Given the description of an element on the screen output the (x, y) to click on. 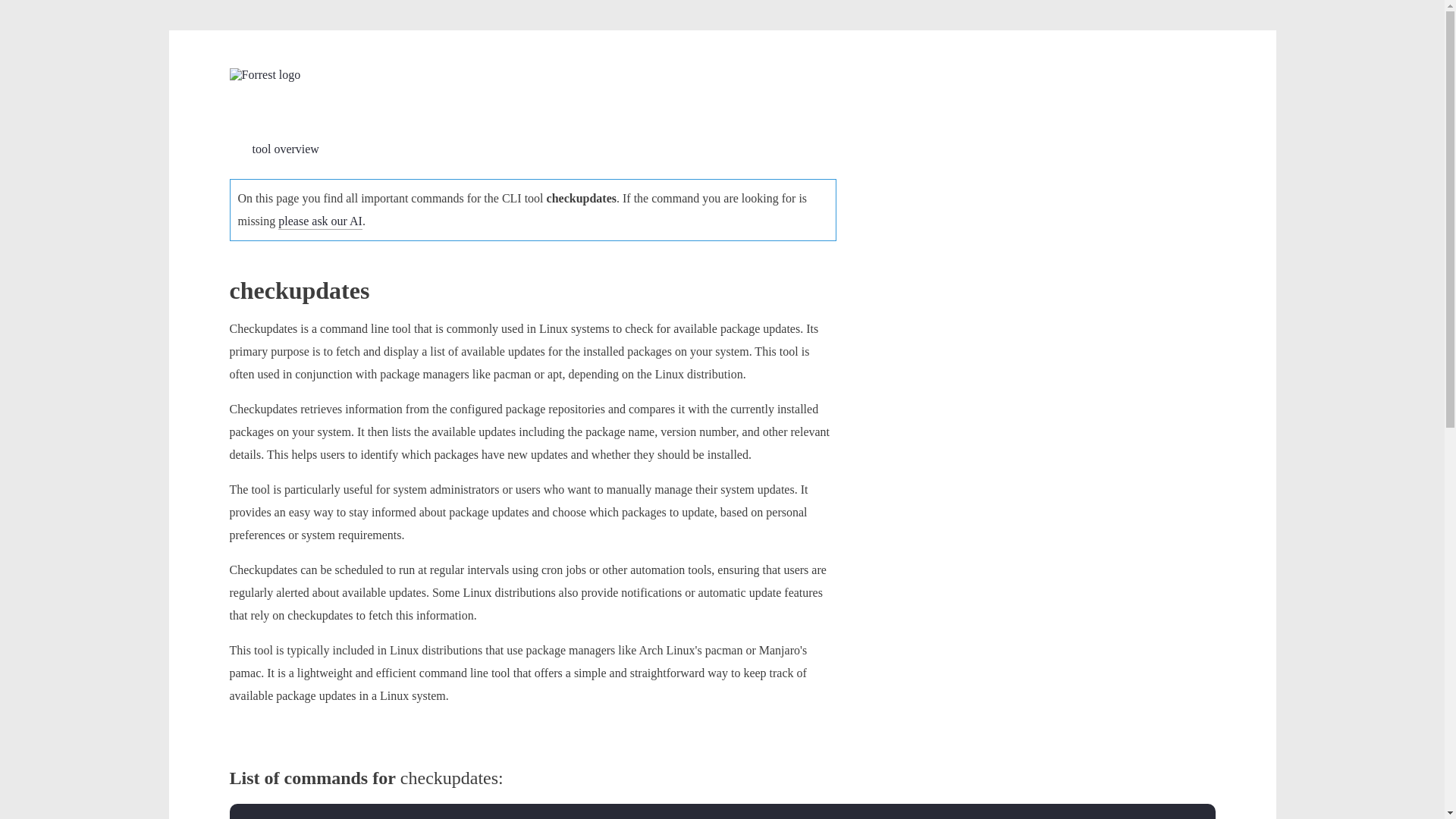
please ask our AI (320, 222)
tool overview (273, 148)
